Given the description of an element on the screen output the (x, y) to click on. 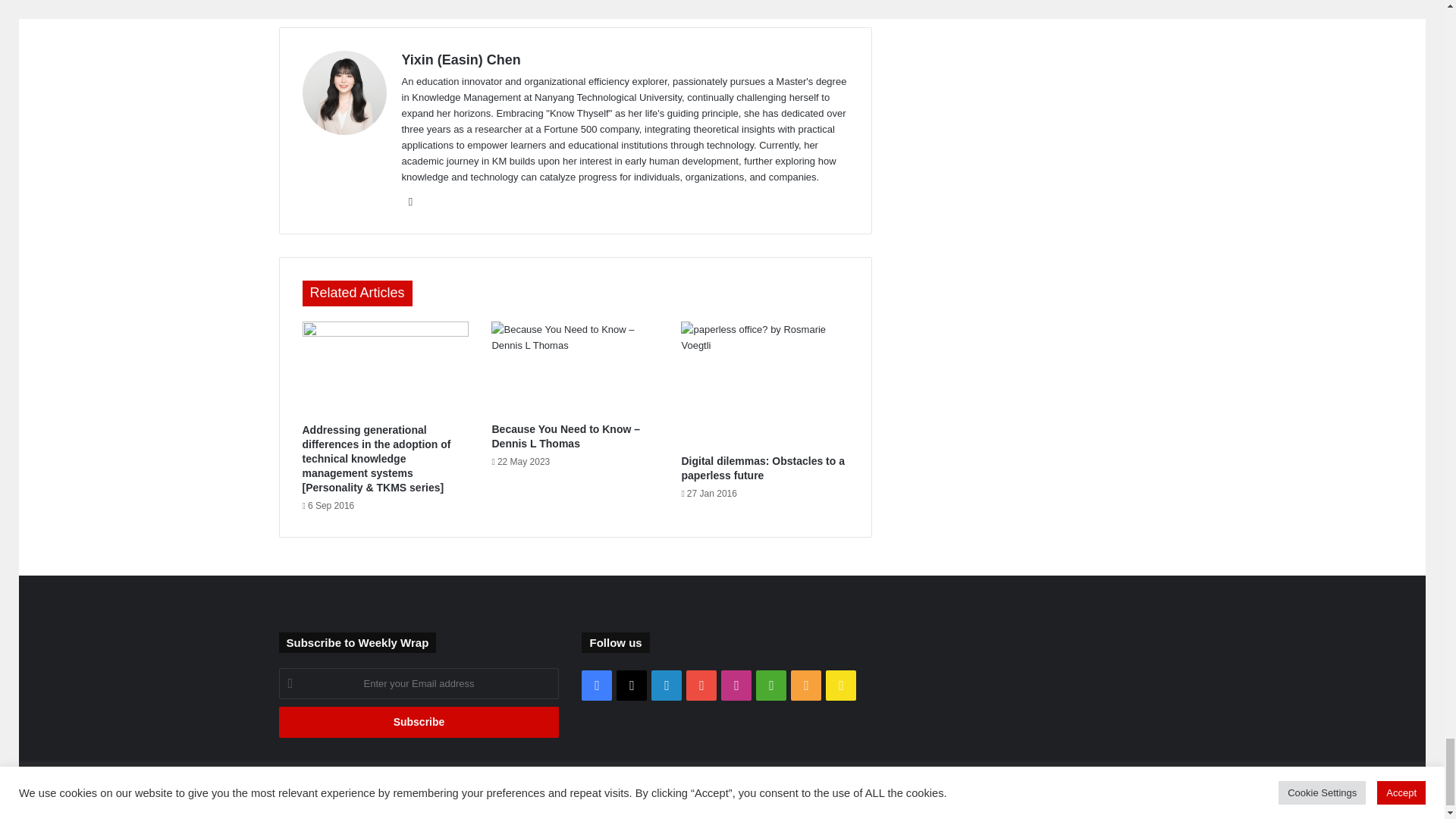
Subscribe (419, 721)
